Given the description of an element on the screen output the (x, y) to click on. 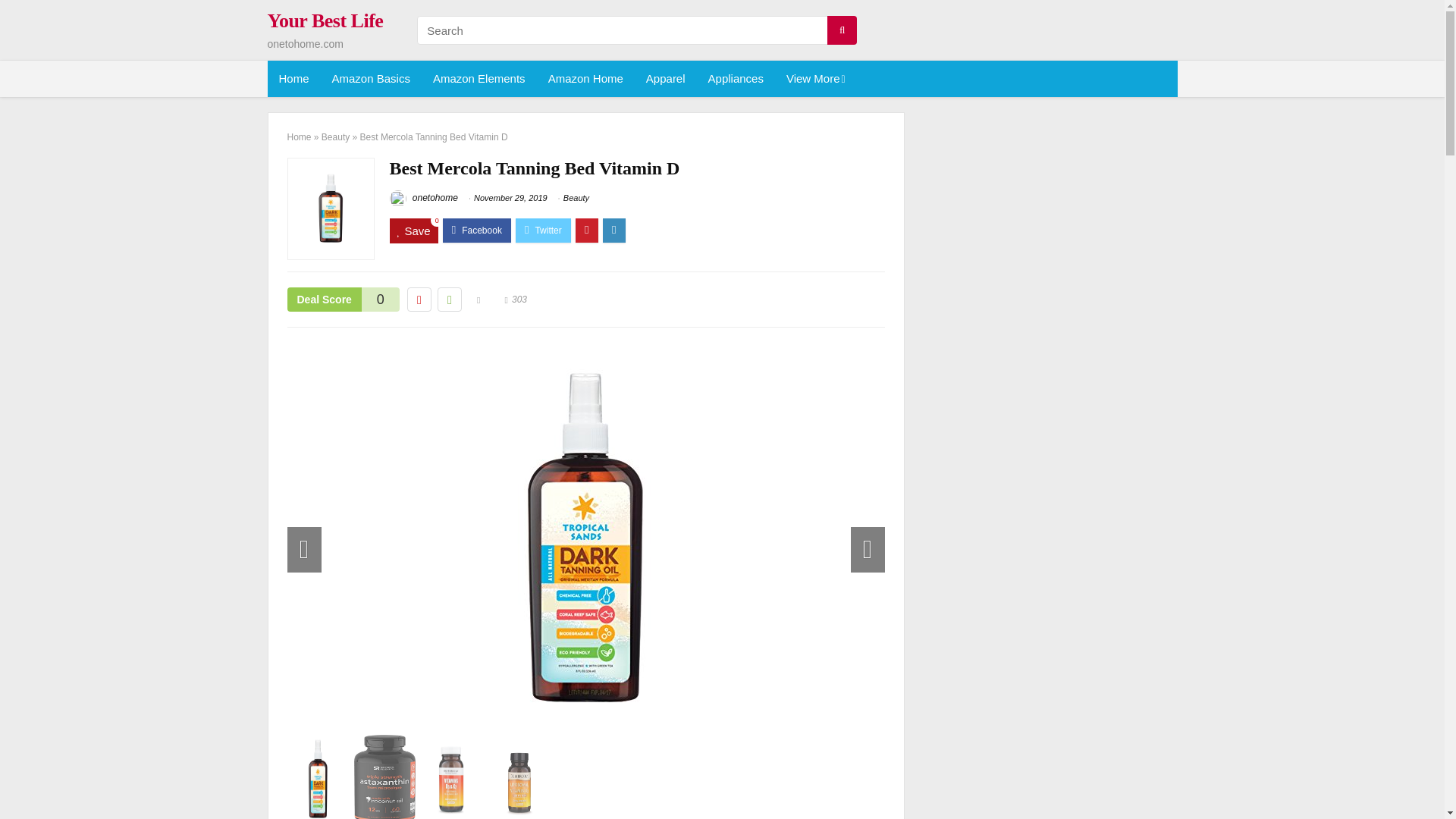
View all posts in Beauty (576, 197)
Amazon Elements (479, 78)
Appliances (735, 78)
View More (813, 78)
Amazon Basics (371, 78)
Home (293, 78)
Apparel (665, 78)
Vote down (418, 299)
Amazon Home (585, 78)
